Given the description of an element on the screen output the (x, y) to click on. 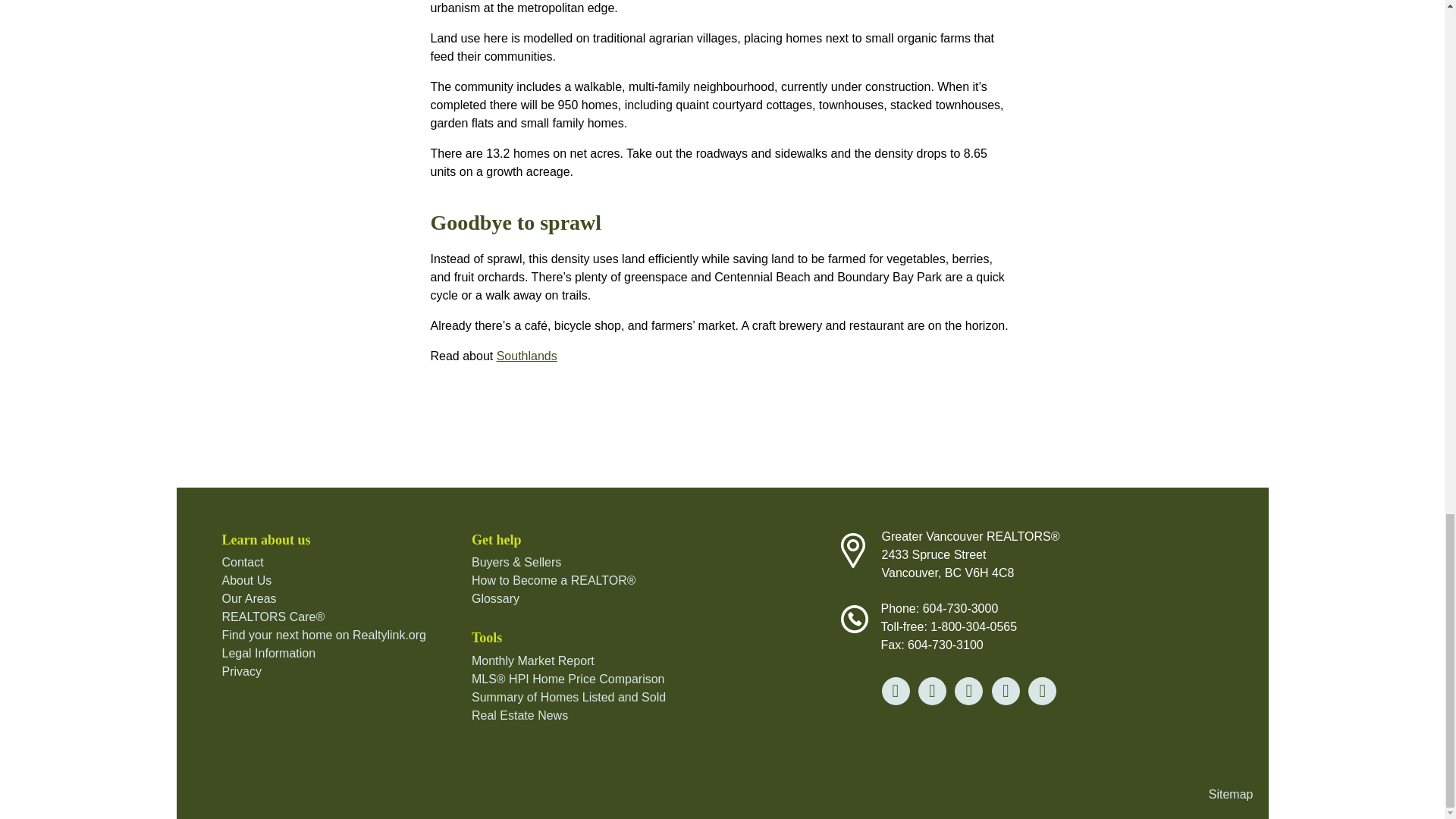
Glossary (495, 598)
Privacy (240, 671)
Our Areas (248, 598)
Monthly Market Report (532, 660)
Legal Information (268, 653)
Contact (242, 562)
Real Estate News (519, 715)
About Us (245, 580)
Find your next home on Realtylink.org (323, 634)
Summary of Homes Listed and Sold (568, 697)
